Given the description of an element on the screen output the (x, y) to click on. 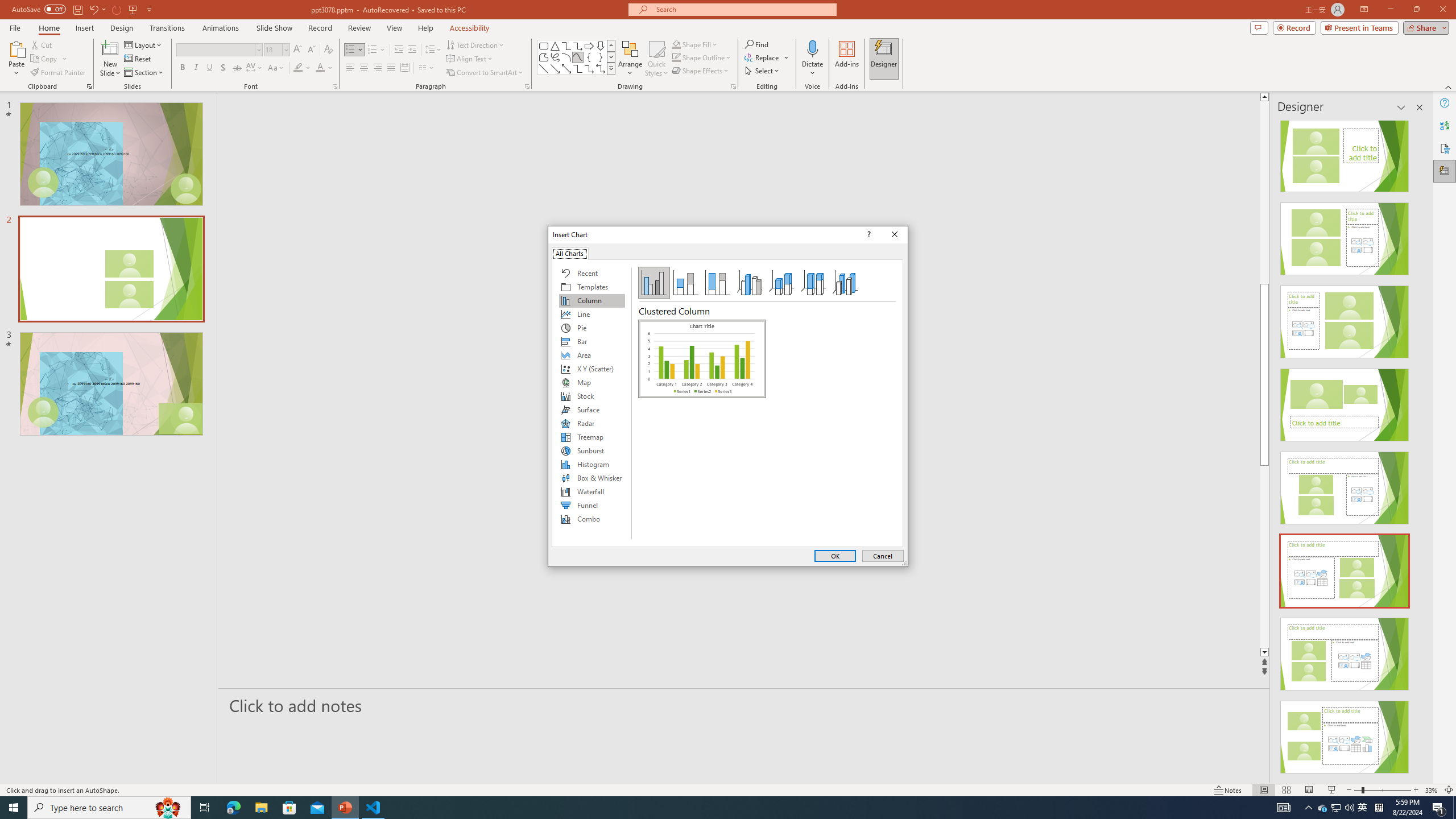
X Y (Scatter) (591, 368)
IME Mode Icon - IME is disabled (1362, 807)
